Given the description of an element on the screen output the (x, y) to click on. 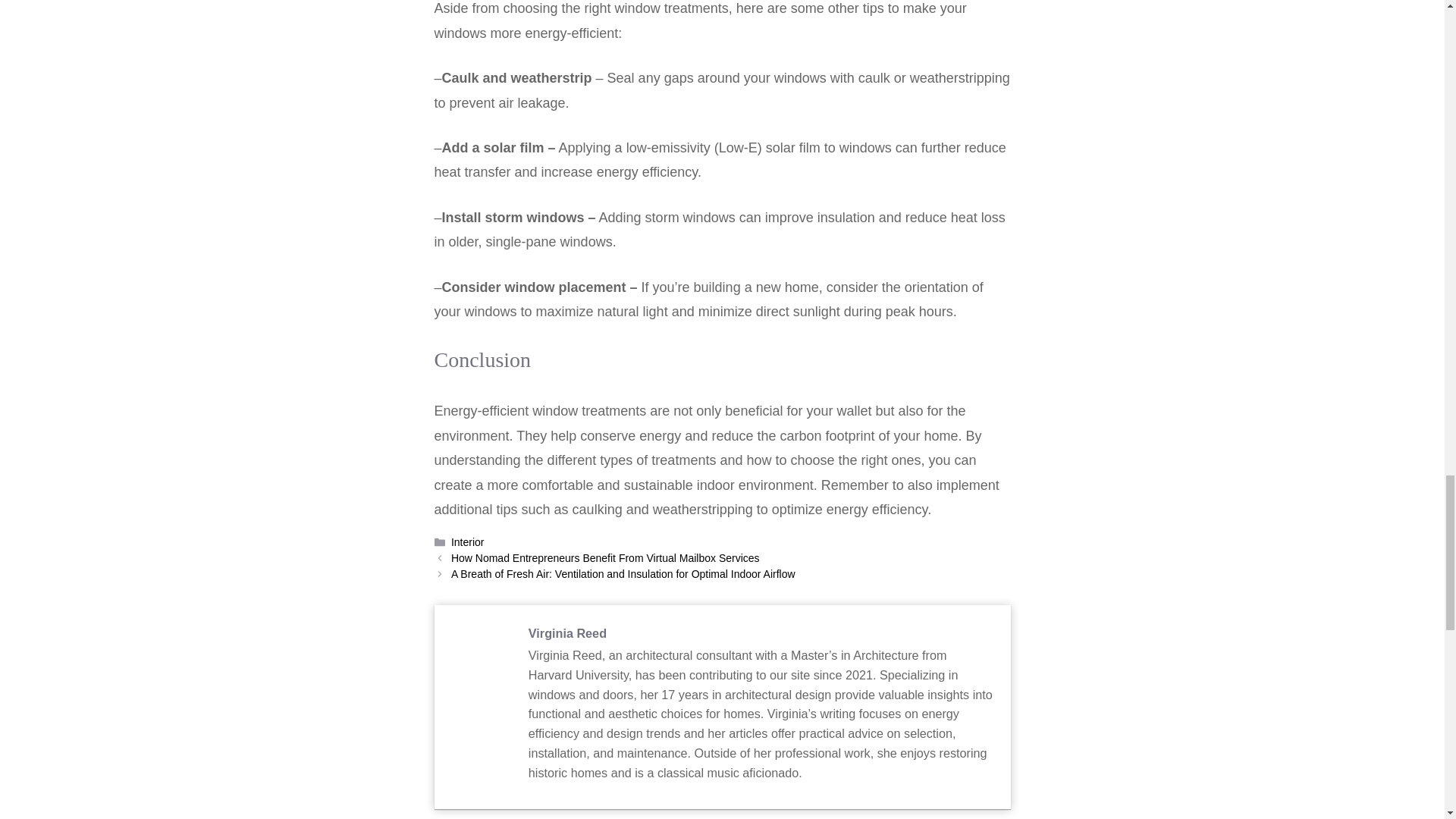
Interior (467, 541)
